Given the description of an element on the screen output the (x, y) to click on. 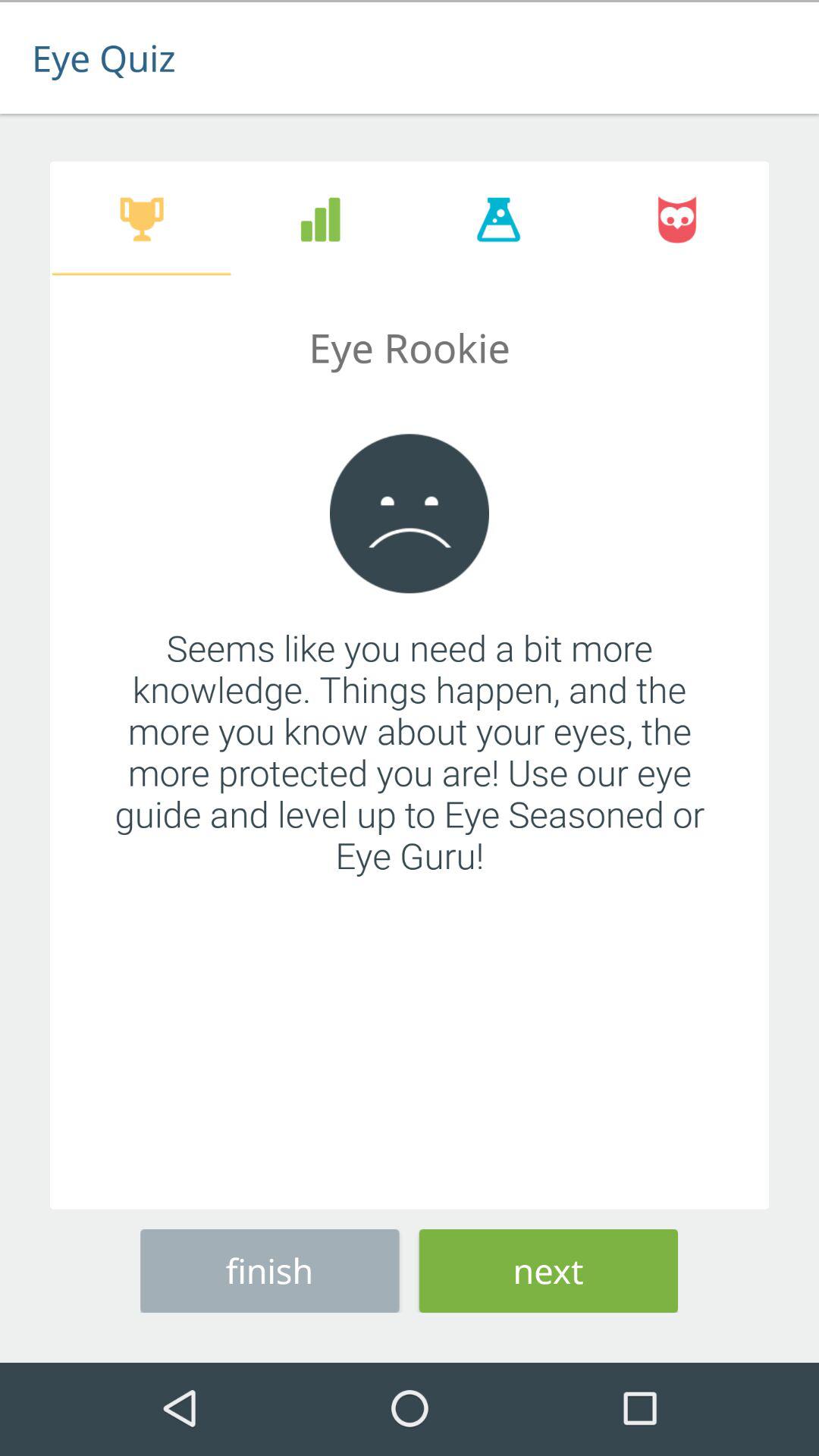
choose the next item (548, 1268)
